Given the description of an element on the screen output the (x, y) to click on. 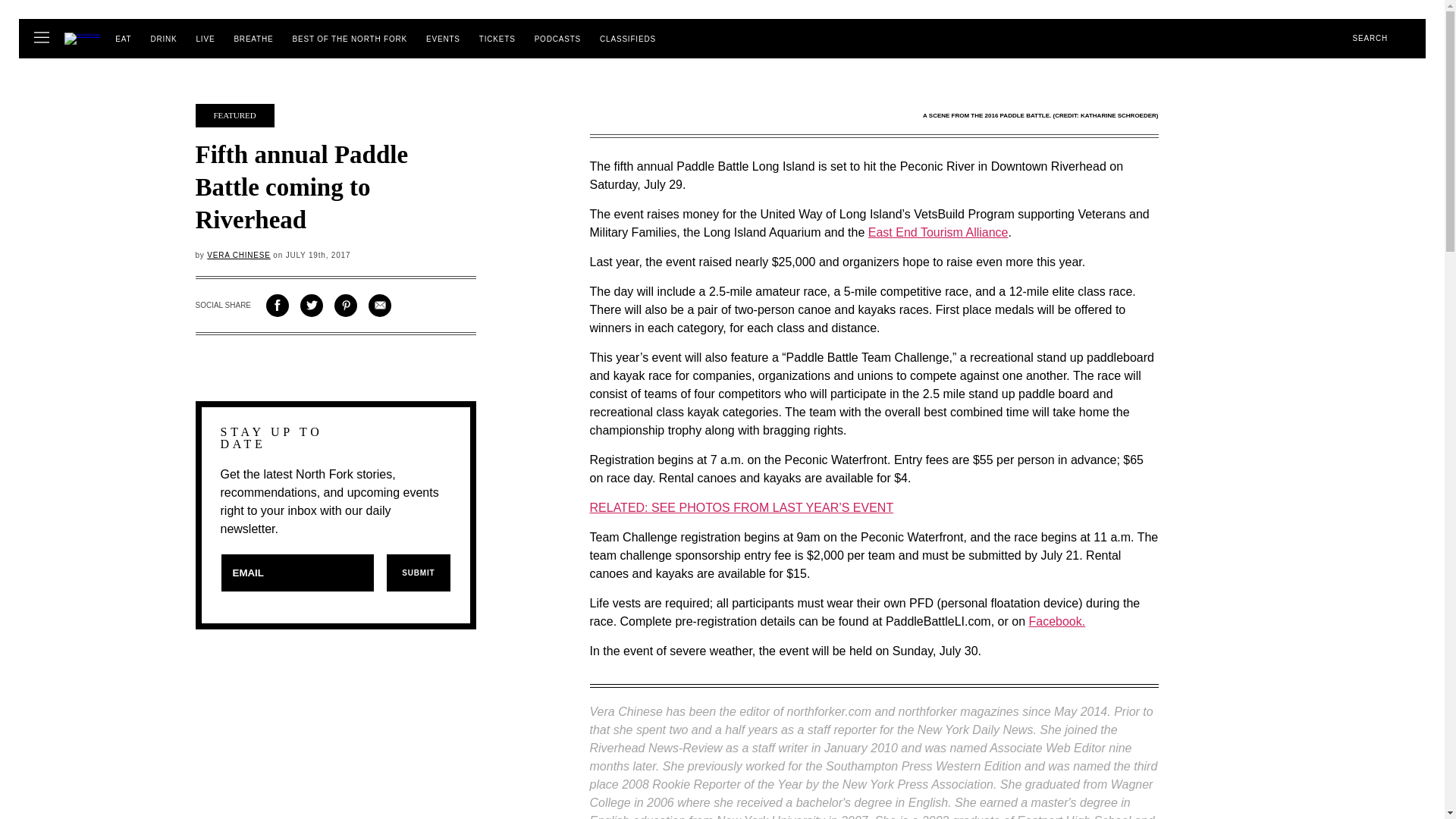
Share on Facebook. (277, 305)
Share via email. (379, 305)
EAT (123, 39)
DRINK (162, 39)
TICKETS (497, 39)
CLASSIFIEDS (627, 39)
BEST OF THE NORTH FORK (349, 39)
Tweet this! (311, 305)
PODCASTS (557, 39)
Submit (417, 572)
